Given the description of an element on the screen output the (x, y) to click on. 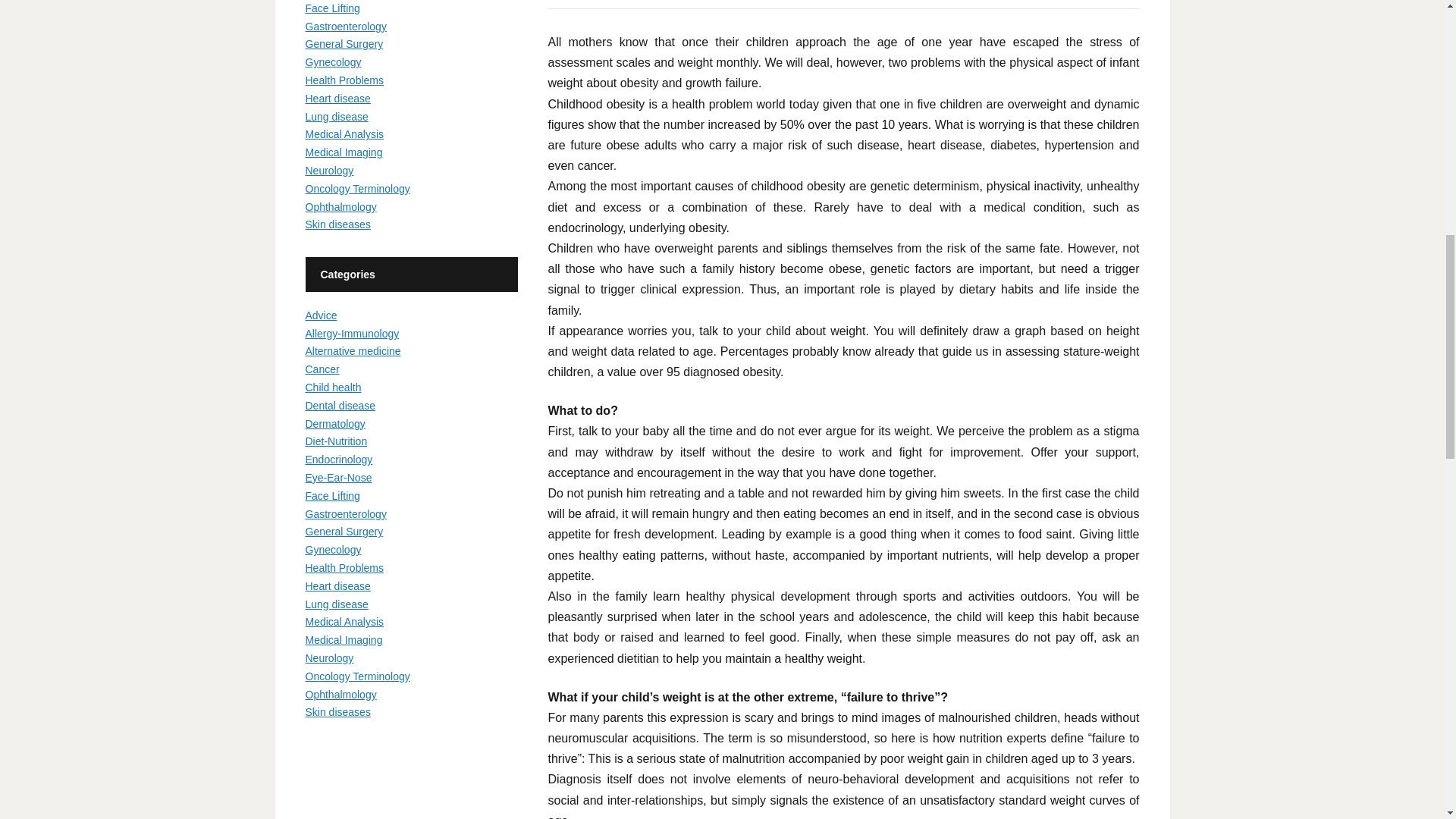
Ophthalmology (339, 206)
Gynecology (332, 61)
General Surgery (343, 43)
Medical Imaging (342, 152)
Lung disease (336, 116)
Face Lifting (331, 8)
Medical Analysis (344, 133)
Heart disease (336, 98)
Gastroenterology (344, 26)
Oncology Terminology (356, 188)
Skin diseases (336, 224)
Health Problems (344, 80)
Neurology (328, 170)
